Given the description of an element on the screen output the (x, y) to click on. 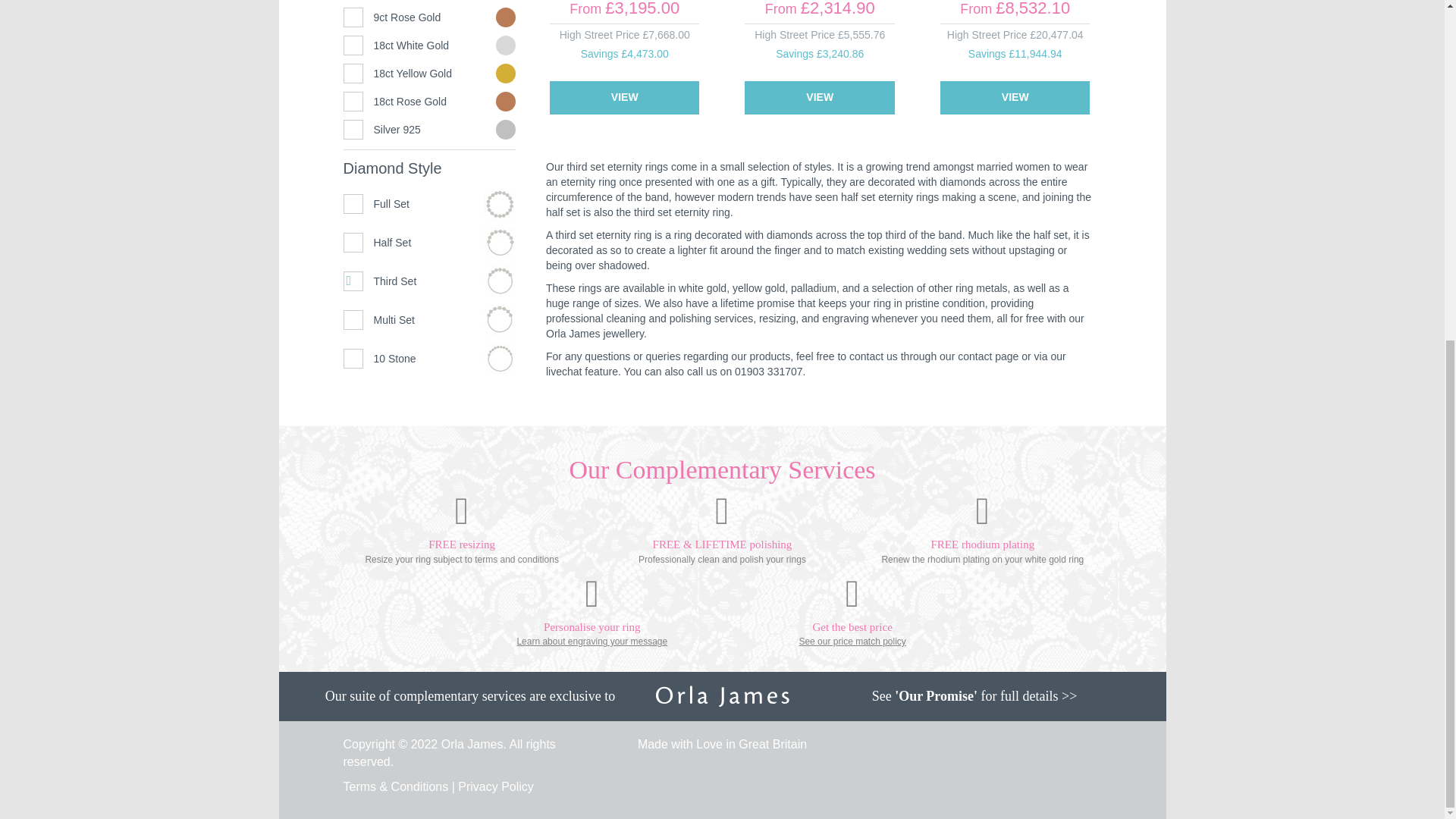
Silver 925 Eternity Rings (428, 129)
18ct White Gold Eternity Rings (428, 45)
18ct Yellow Gold Eternity Rings (428, 73)
9ct Rose Gold Eternity Rings (428, 16)
Full Set Eternity Rings (428, 203)
Full Set Eternity Rings (499, 204)
18ct Rose Gold Eternity Rings (428, 101)
